Given the description of an element on the screen output the (x, y) to click on. 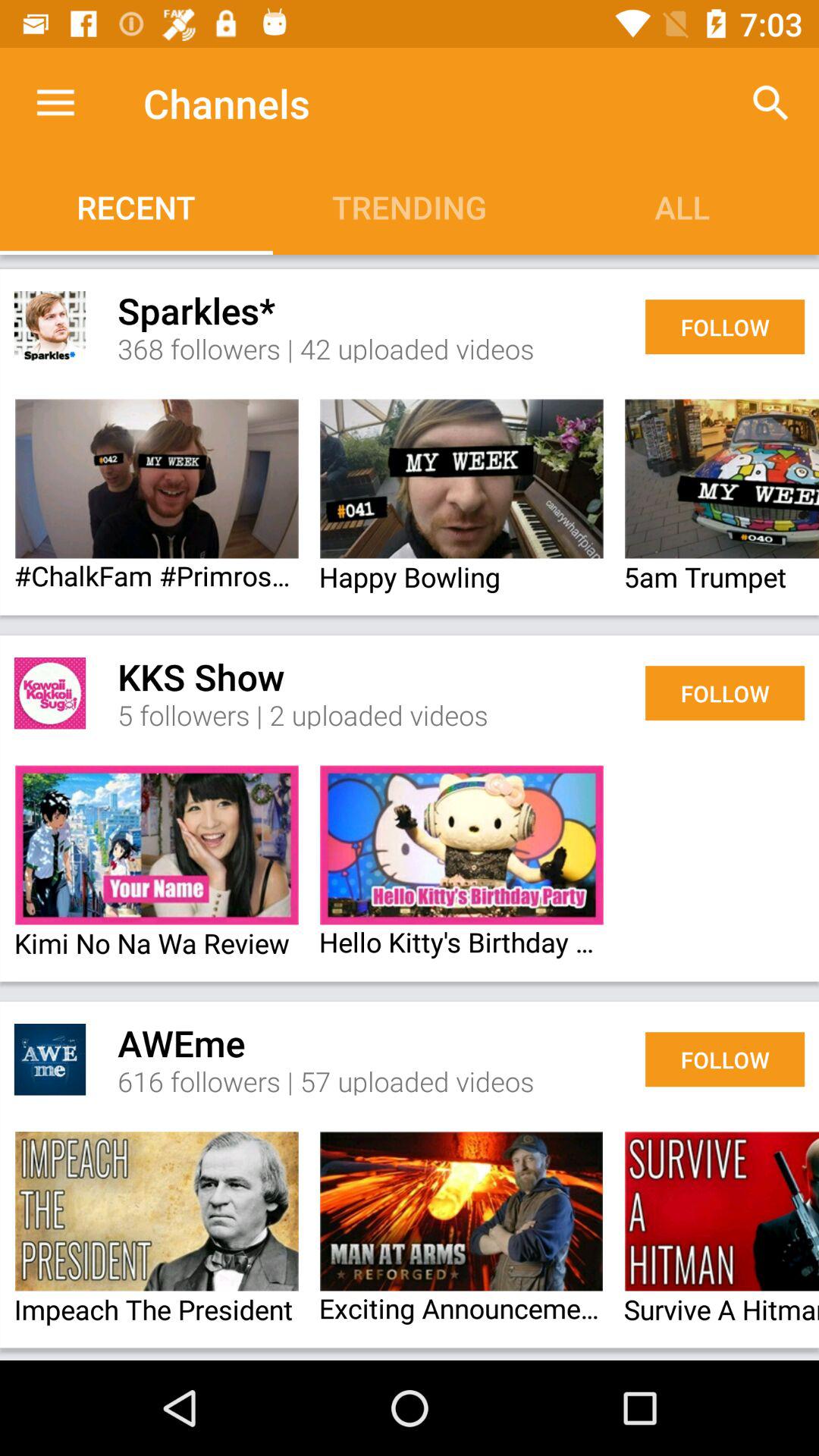
turn off the app next to the channels icon (771, 103)
